Given the description of an element on the screen output the (x, y) to click on. 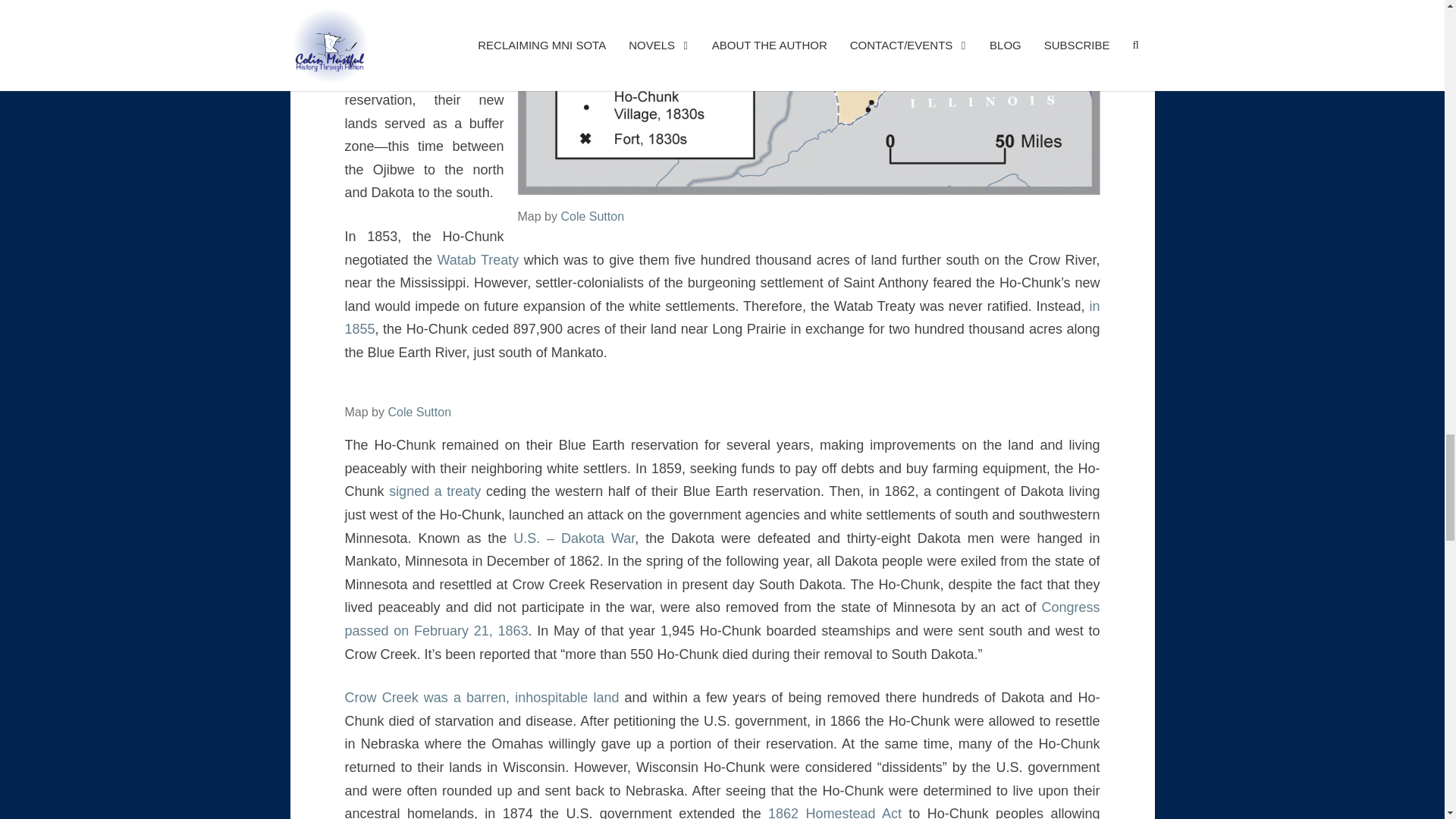
Congress passed on February 21, 1863 (721, 618)
1862 Homestead Act (834, 812)
Crow Creek was a barren, inhospitable land (480, 697)
Cole Sutton (592, 215)
signed a treaty (437, 491)
Watab Treaty (478, 259)
Cole Sutton (419, 411)
in 1855 (721, 317)
